Given the description of an element on the screen output the (x, y) to click on. 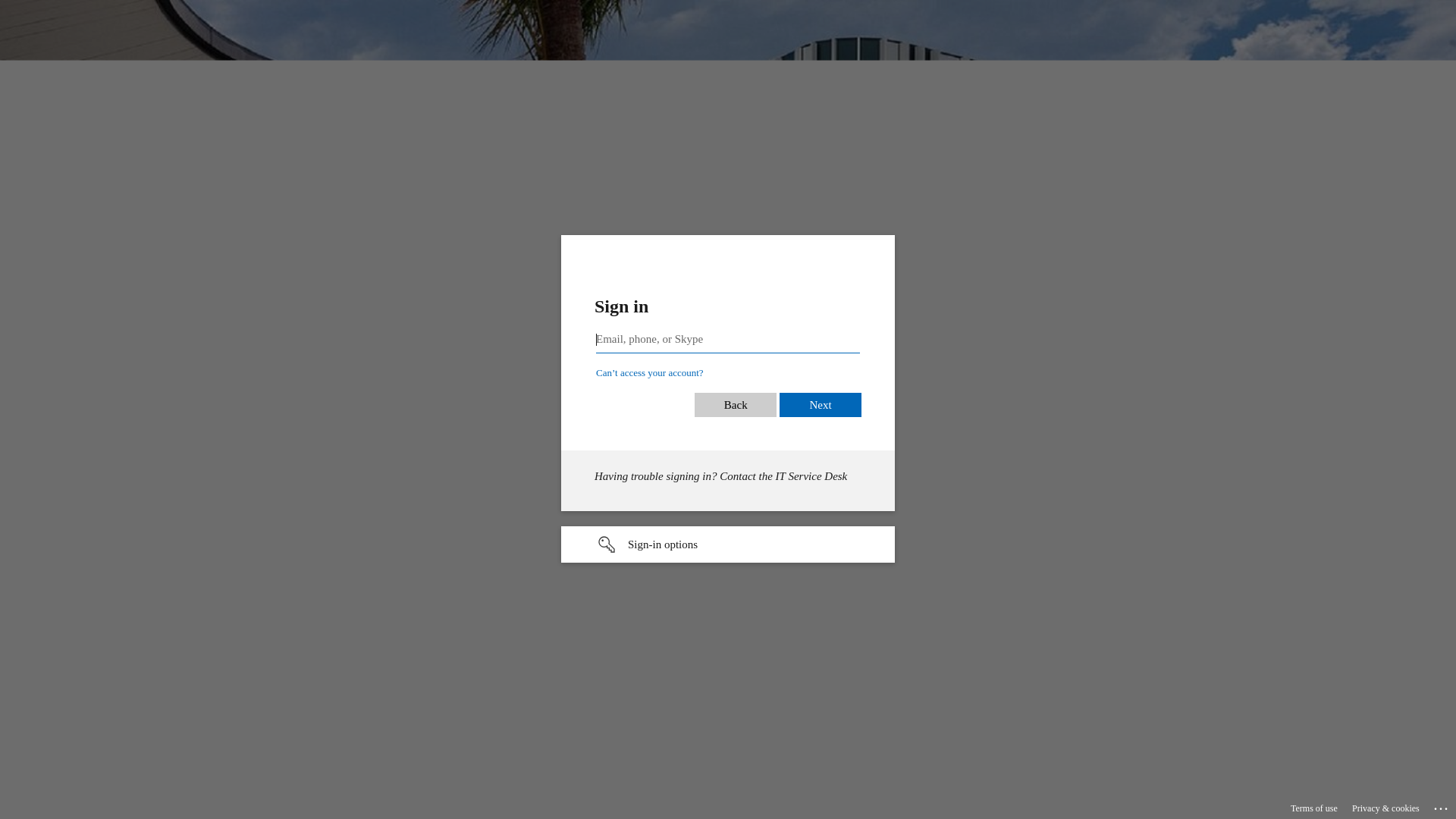
... Element type: text (1441, 805)
Next Element type: text (838, 404)
